Given the description of an element on the screen output the (x, y) to click on. 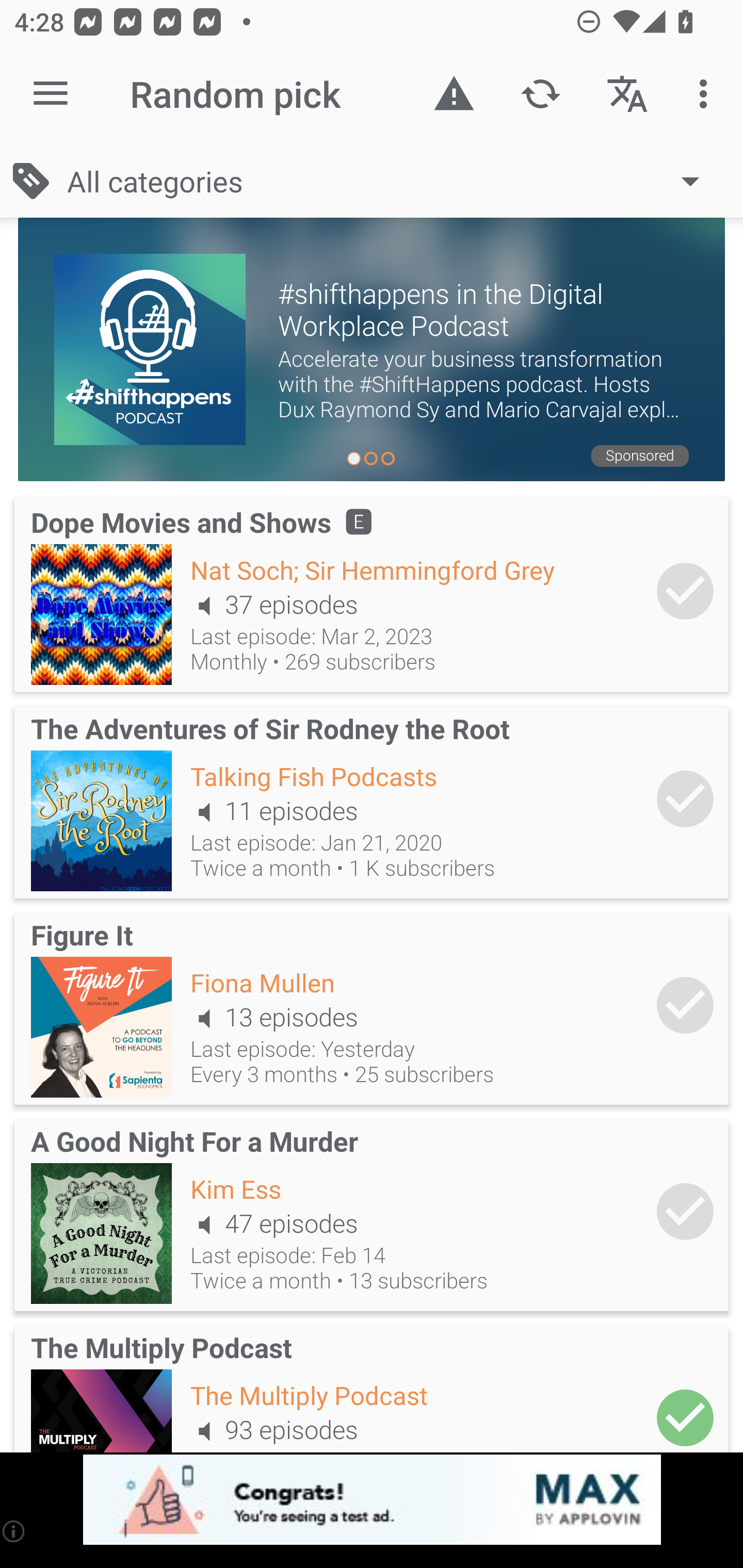
Open navigation sidebar (50, 93)
Report inappropriate content (453, 93)
Update top podcasts list (540, 93)
Podcast languages (626, 93)
More options (706, 93)
All categories (393, 180)
Add (684, 591)
Add (684, 798)
Add (684, 1004)
Add (684, 1211)
Add (684, 1413)
app-monetization (371, 1500)
(i) (14, 1531)
